Given the description of an element on the screen output the (x, y) to click on. 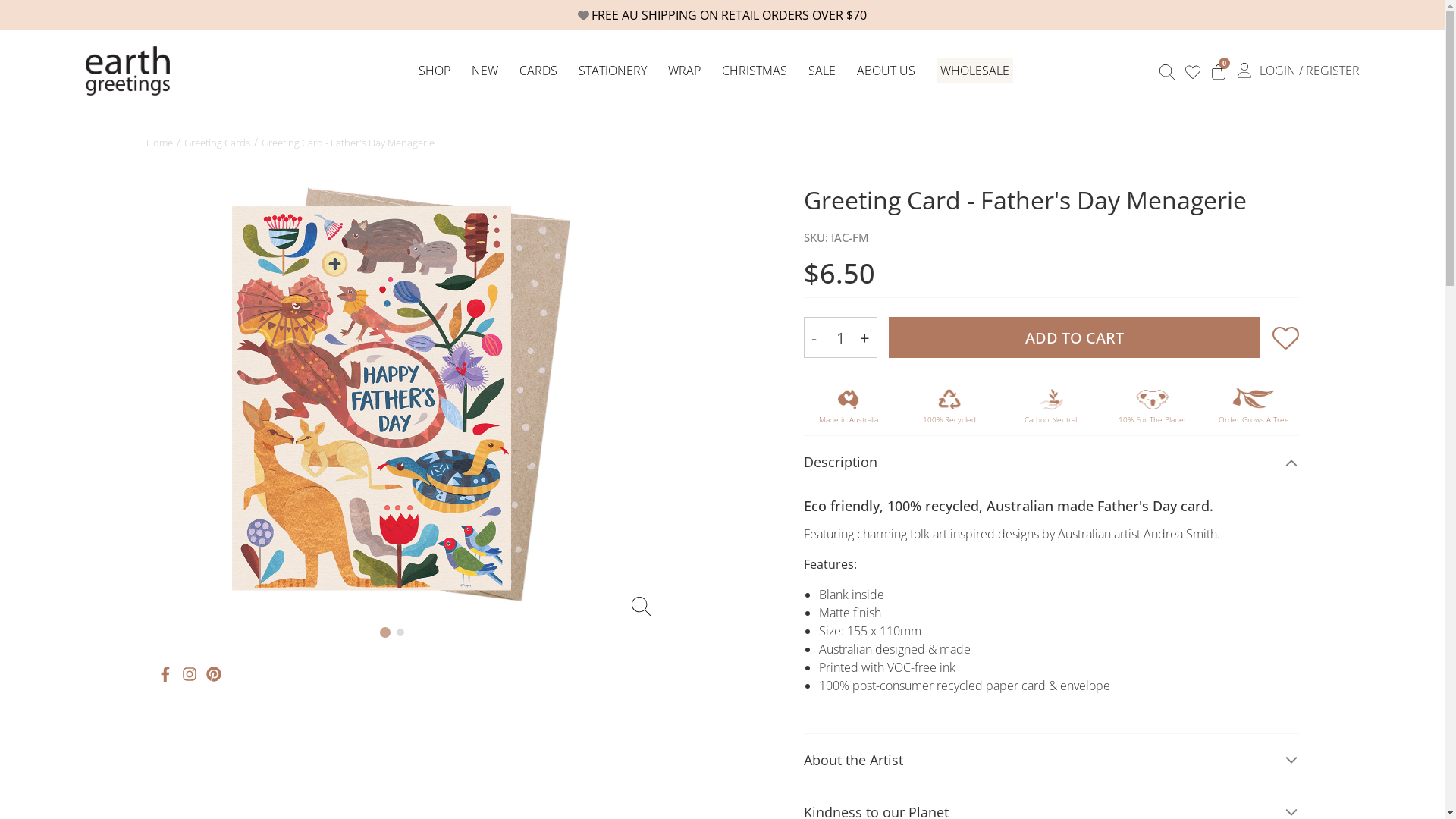
CHRISTMAS Element type: text (754, 70)
SHOP Element type: text (434, 70)
SALE Element type: text (821, 70)
ABOUT US Element type: text (885, 70)
WHOLESALE Element type: text (974, 70)
Greeting Card - Father'S Day Menagerie Element type: text (346, 141)
FREE AU SHIPPING ON RETAIL ORDERS OVER $70 Element type: text (721, 14)
Greeting Cards Element type: text (216, 141)
STATIONERY Element type: text (611, 70)
Home Element type: text (158, 141)
WRAP Element type: text (683, 70)
CARDS Element type: text (537, 70)
ADD TO CART Element type: text (1074, 336)
NEW Element type: text (484, 70)
Earth Greetings Element type: hover (126, 69)
